Given the description of an element on the screen output the (x, y) to click on. 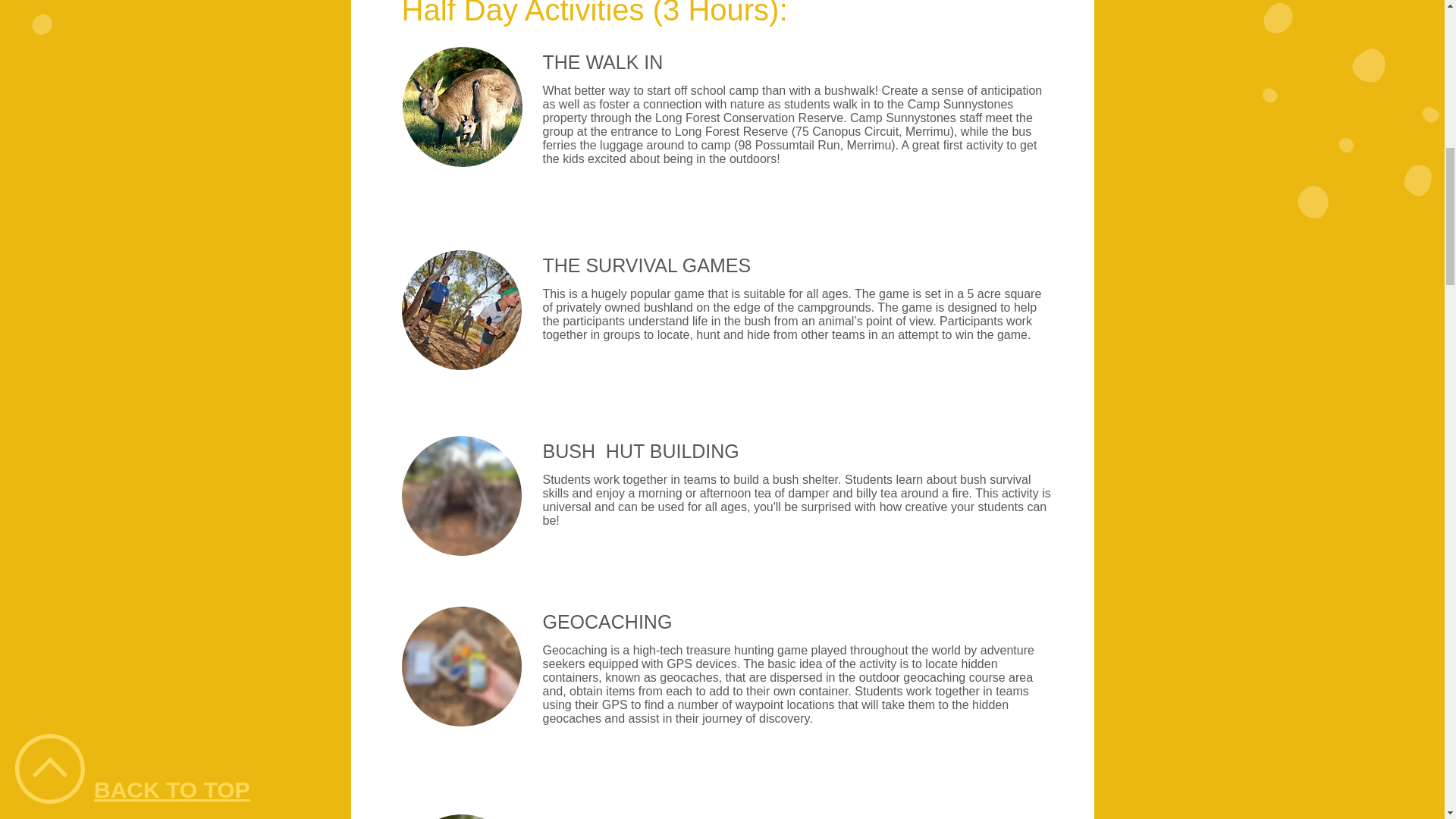
Canoeing.jpeg (461, 666)
Canoeing.jpeg (461, 310)
Canoeing.jpeg (461, 495)
Canoeing.jpeg (461, 106)
Canoeing.jpeg (461, 816)
